Given the description of an element on the screen output the (x, y) to click on. 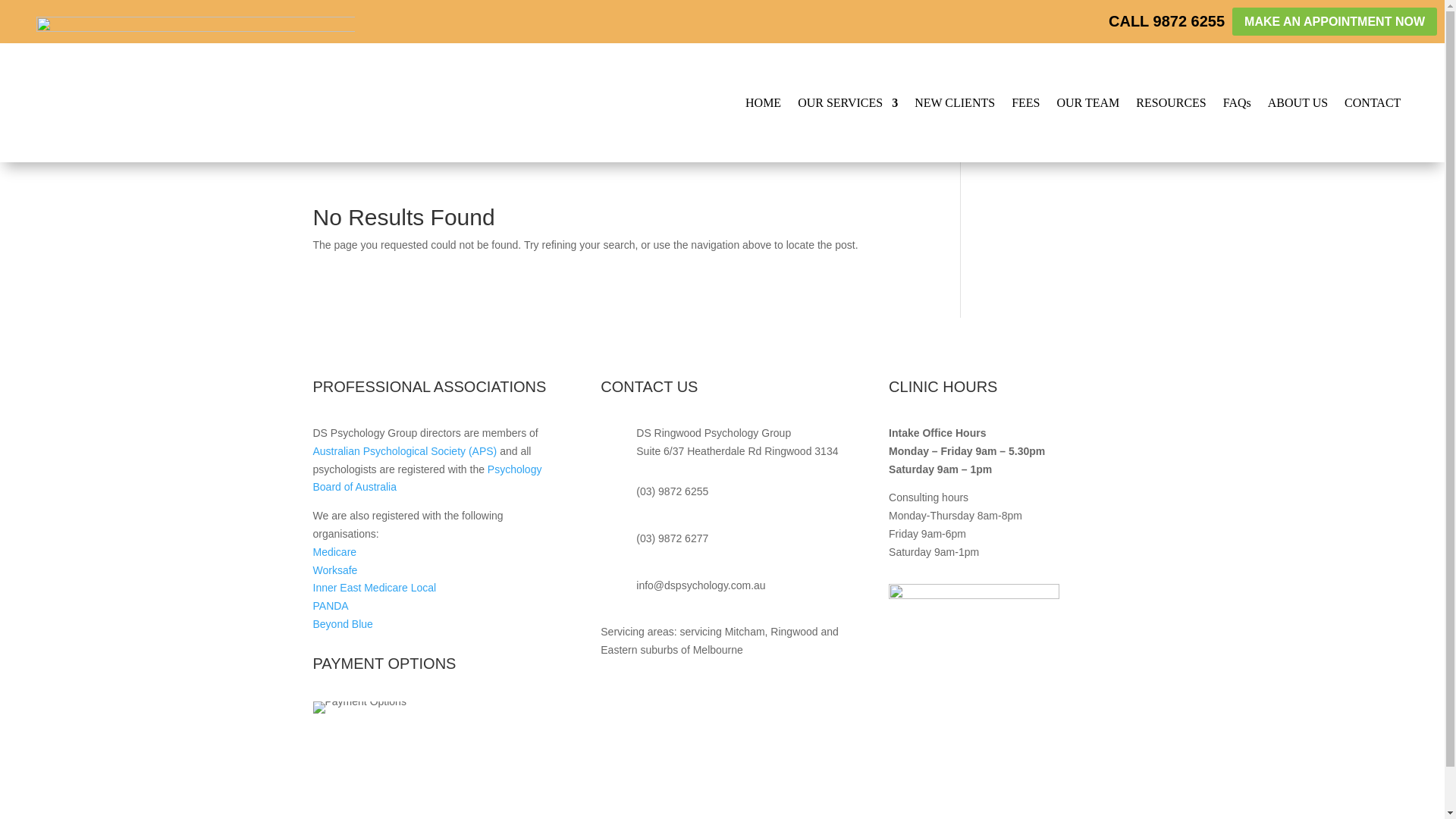
ABOUT US (1297, 102)
PANDA (330, 605)
RESOURCES (1170, 102)
NDIS-registered-provider-logo (973, 668)
MAKE AN APPOINTMENT NOW (1334, 21)
Worksafe (334, 570)
CALL 9872 6255 (1166, 21)
HOME (762, 102)
FAQs (1236, 102)
Payment Options (359, 707)
NEW CLIENTS (954, 102)
Medicare (334, 551)
FEES (1025, 102)
Beyond Blue (342, 623)
OUR TEAM (1088, 102)
